Given the description of an element on the screen output the (x, y) to click on. 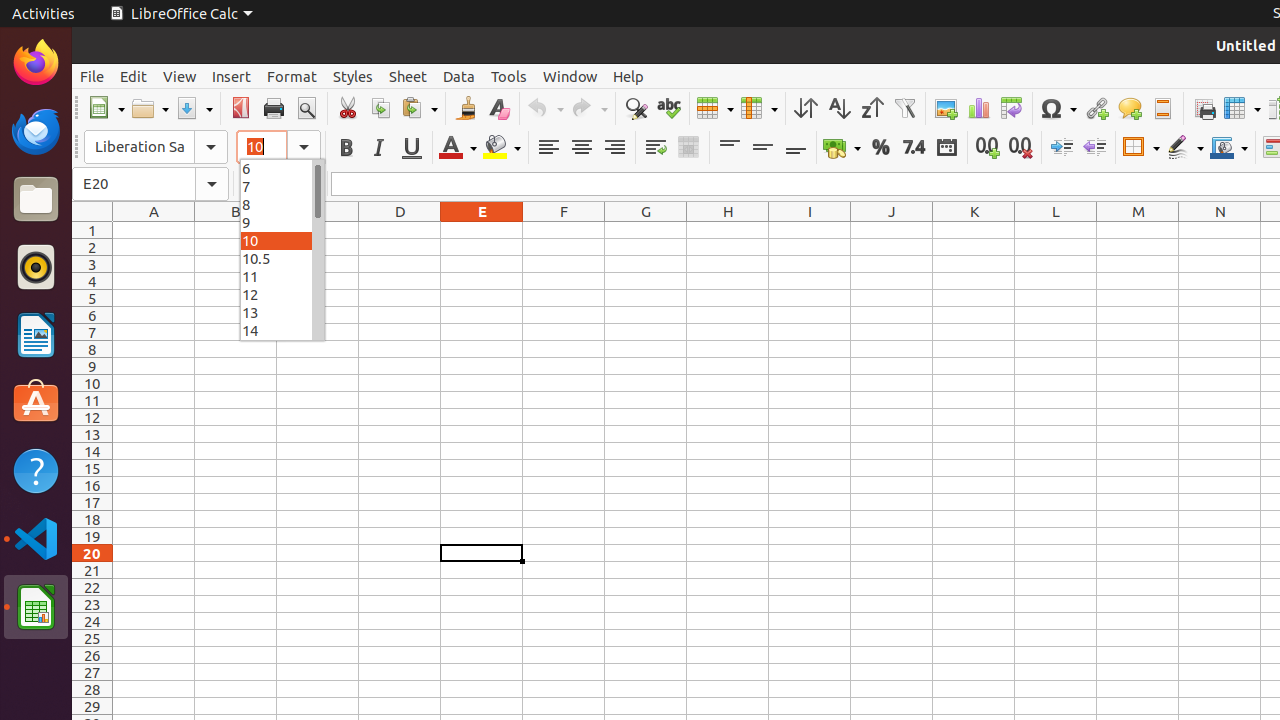
File Element type: menu (92, 76)
Background Color Element type: push-button (502, 147)
View Element type: menu (179, 76)
Insert Element type: menu (231, 76)
Add Decimal Place Element type: push-button (987, 147)
